Given the description of an element on the screen output the (x, y) to click on. 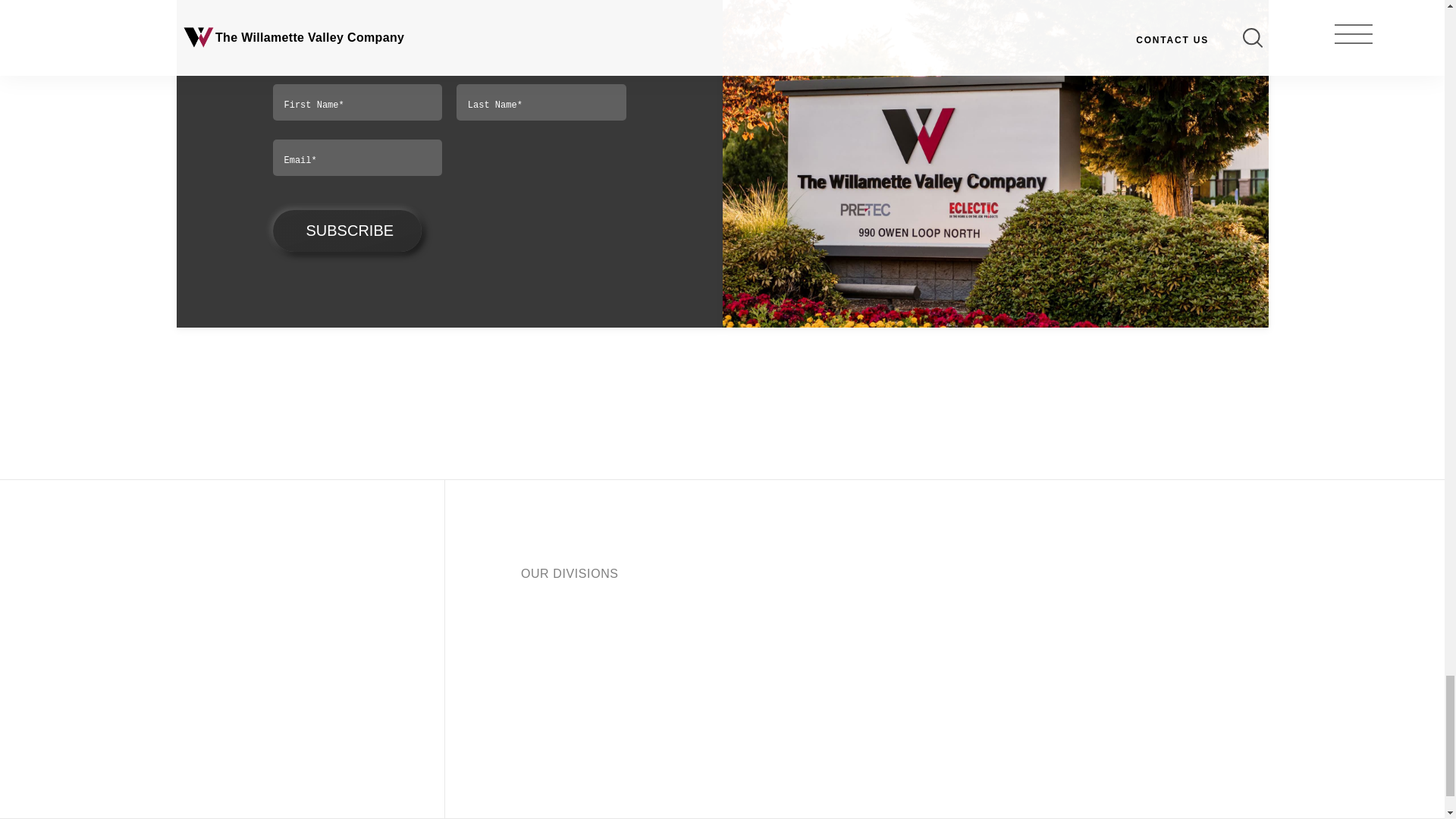
SUBSCRIBE (347, 230)
SUBSCRIBE (347, 230)
